Given the description of an element on the screen output the (x, y) to click on. 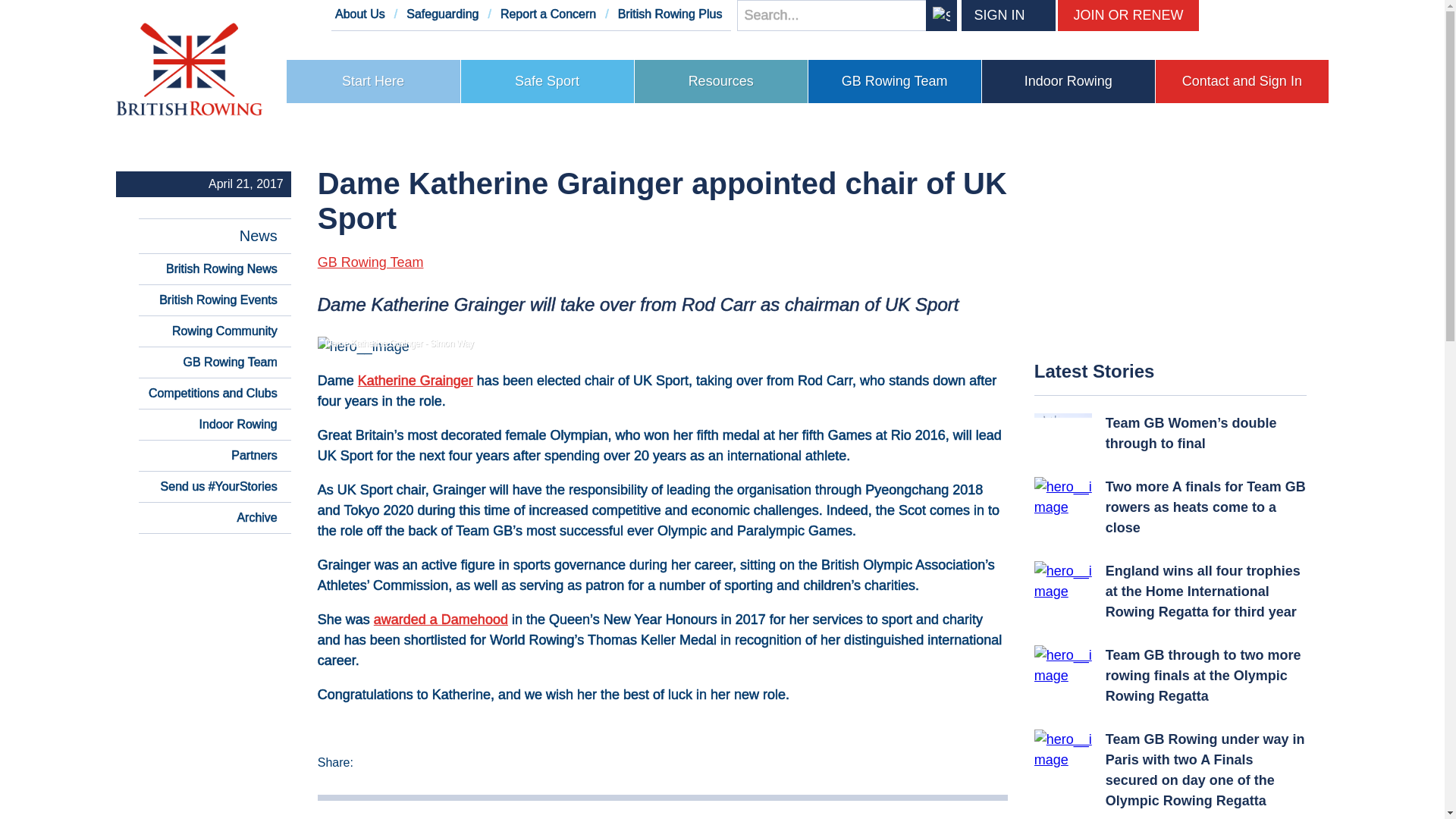
Resources (721, 81)
instagram (1313, 15)
Report a Concern (547, 13)
Contact and Sign In (1241, 81)
British Rowing Plus (669, 13)
GB Rowing Team (894, 81)
Safe Sport (547, 81)
Start Here (373, 81)
Safeguarding (442, 13)
About Us (359, 13)
twitter (1214, 15)
youtube (1280, 15)
JOIN OR RENEW (1128, 15)
facebook (1248, 15)
SIGN IN (992, 15)
